Given the description of an element on the screen output the (x, y) to click on. 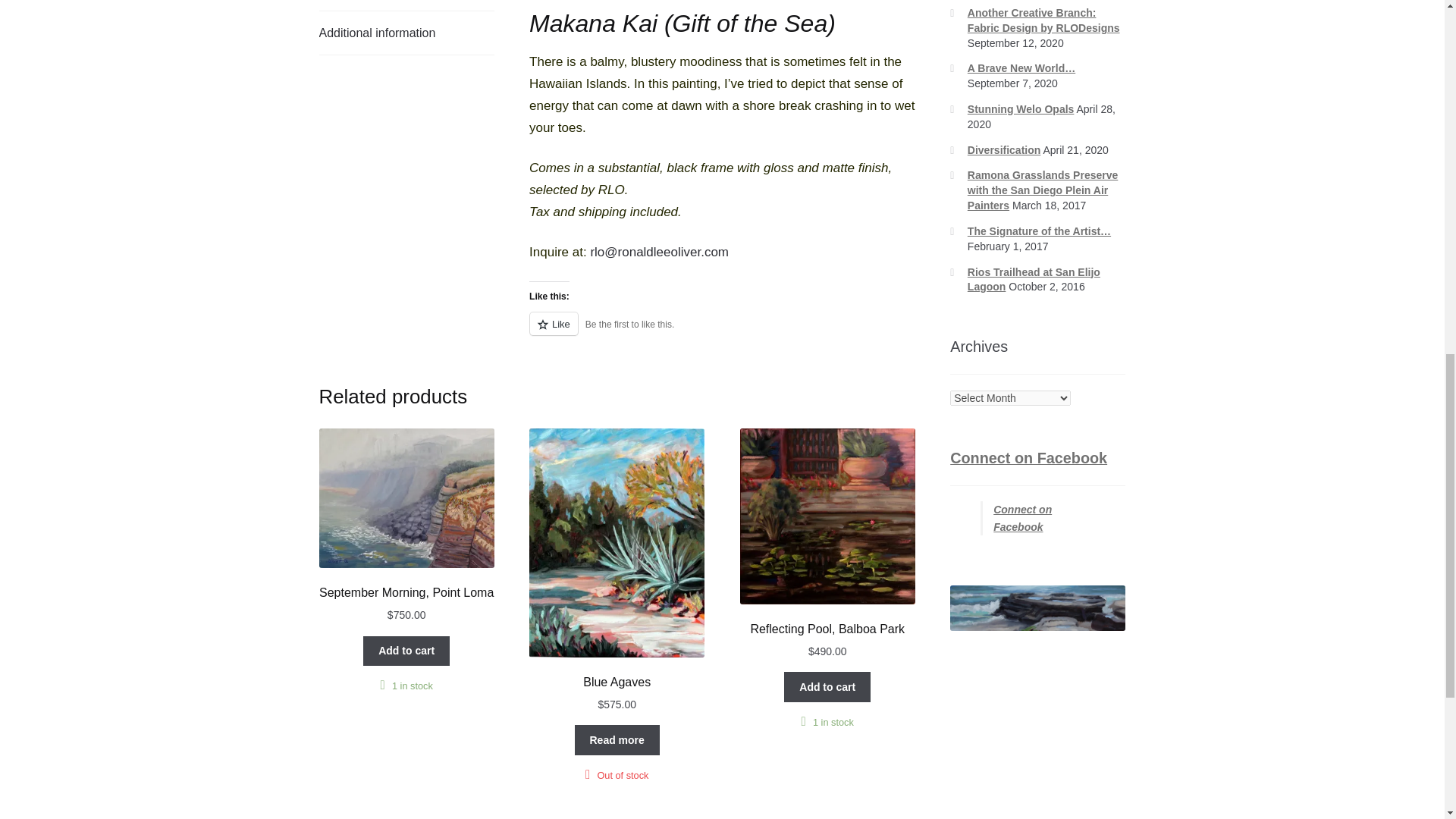
Like or Reblog (722, 332)
